Given the description of an element on the screen output the (x, y) to click on. 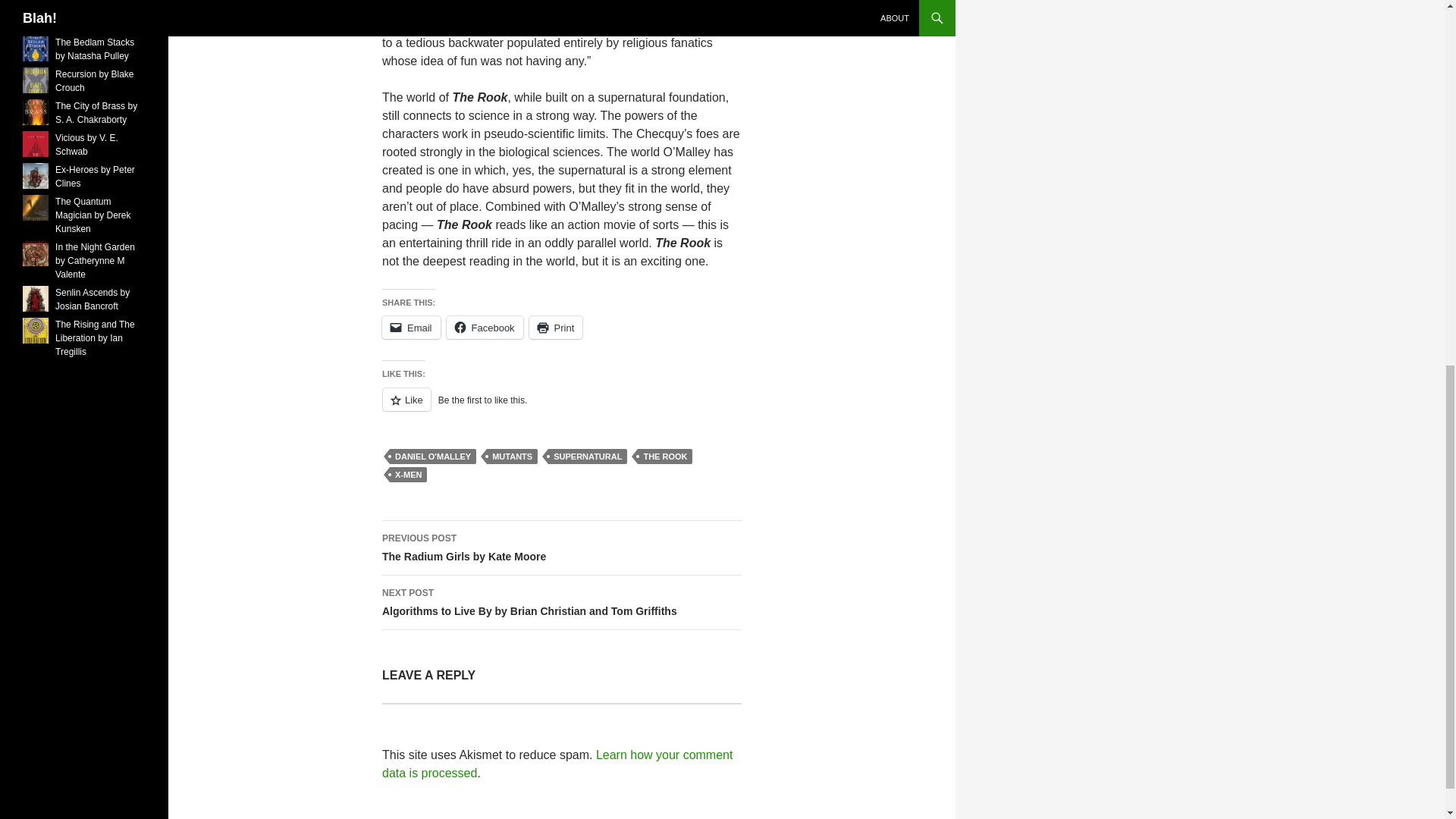
X-MEN (408, 474)
DANIEL O'MALLEY (433, 456)
The Bedlam Stacks by Natasha Pulley (94, 48)
The City of Brass by S. A. Chakraborty (95, 112)
The Bedlam Stacks by Natasha Pulley (94, 48)
Print (556, 327)
Facebook (484, 327)
THE ROOK (561, 547)
A Conversation in the Woods (665, 456)
Click to email a link to a friend (98, 16)
Comment Form (411, 327)
Click to print (561, 408)
Recursion by Blake Crouch (556, 327)
